Given the description of an element on the screen output the (x, y) to click on. 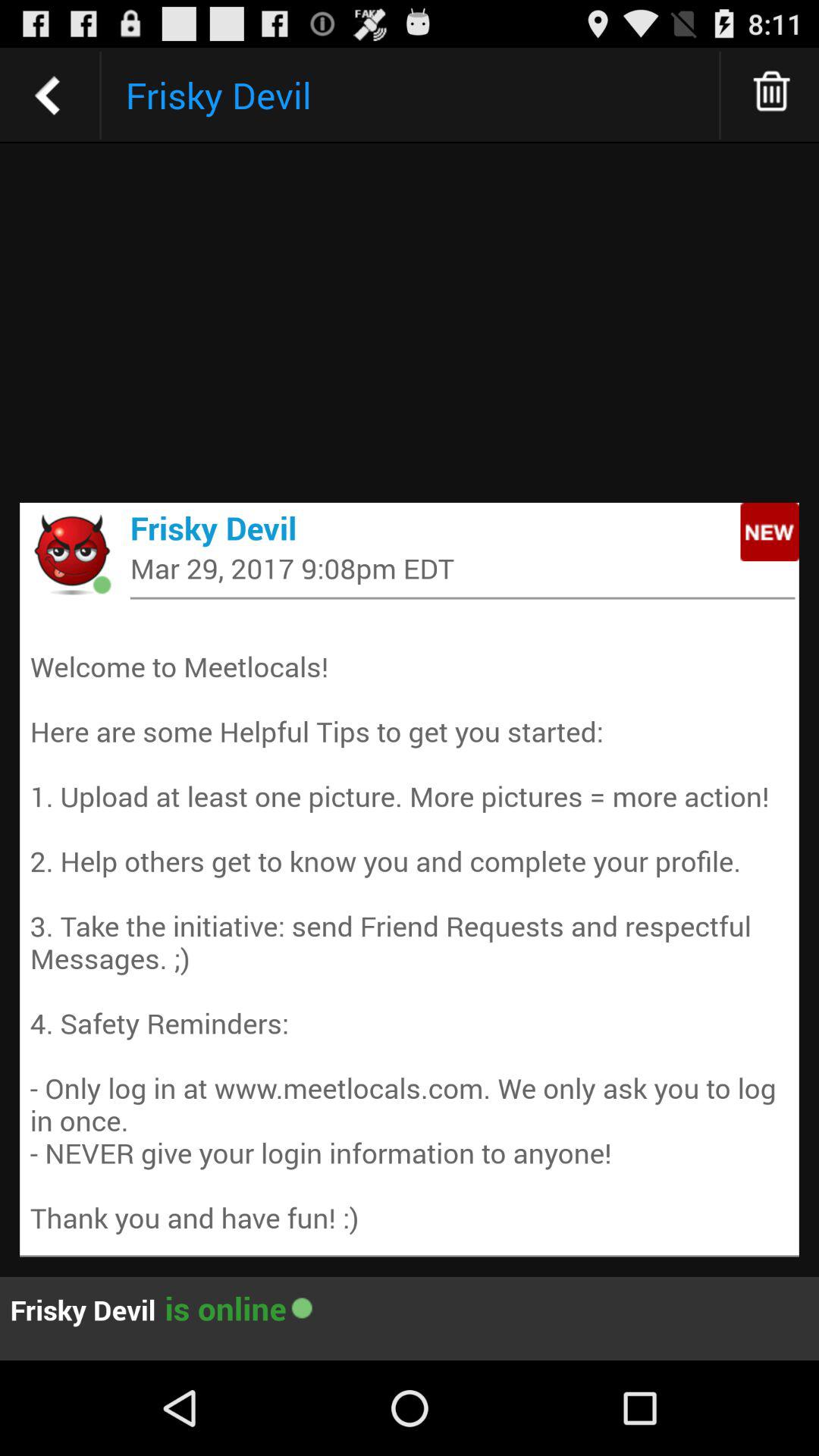
launch icon on the right (769, 531)
